Given the description of an element on the screen output the (x, y) to click on. 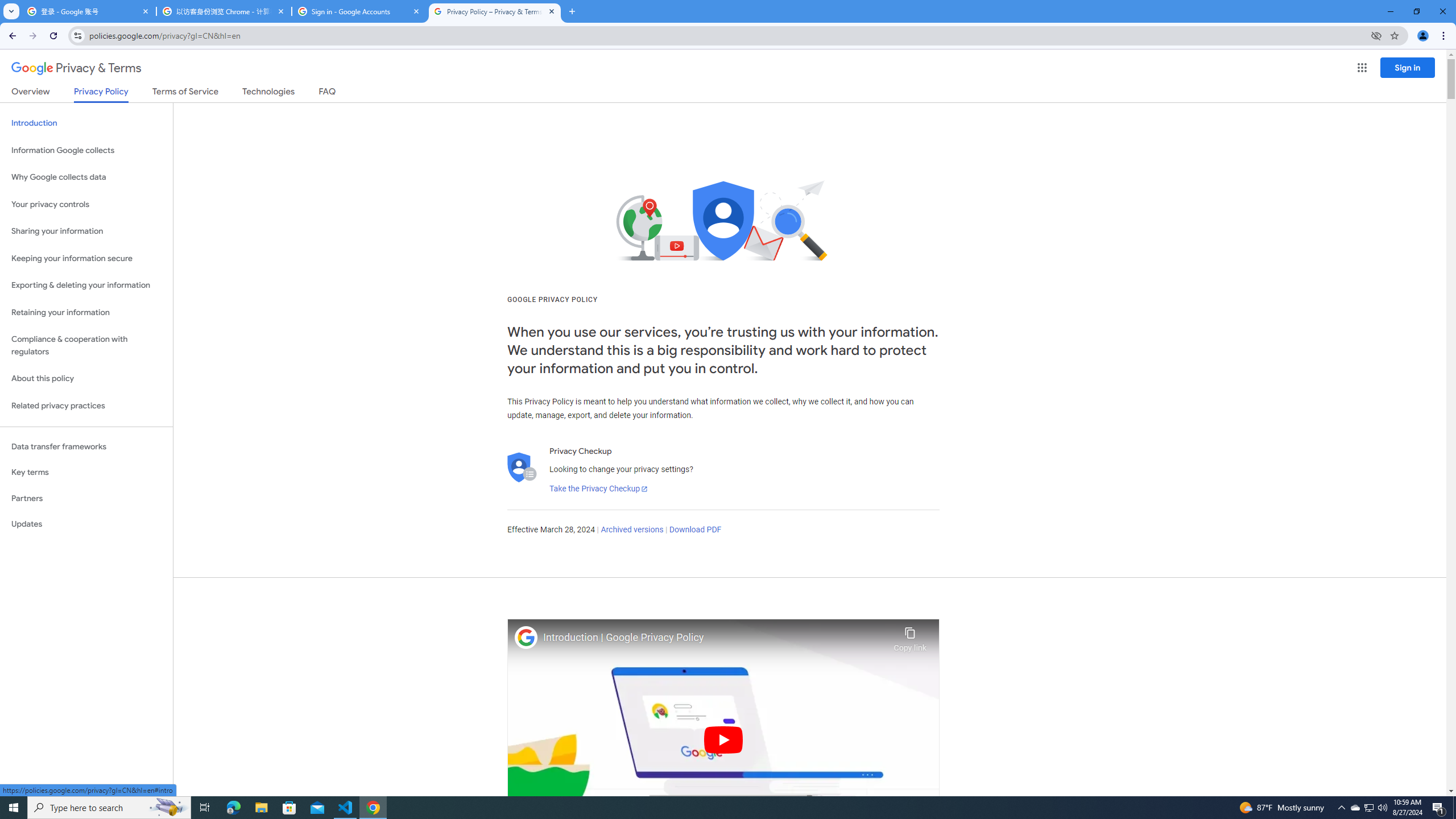
Related privacy practices (86, 405)
Introduction (86, 122)
Third-party cookies blocked (1376, 35)
Key terms (86, 472)
Privacy & Terms (76, 68)
Information Google collects (86, 150)
Data transfer frameworks (86, 446)
Introduction | Google Privacy Policy (715, 637)
Why Google collects data (86, 176)
Technologies (268, 93)
